Given the description of an element on the screen output the (x, y) to click on. 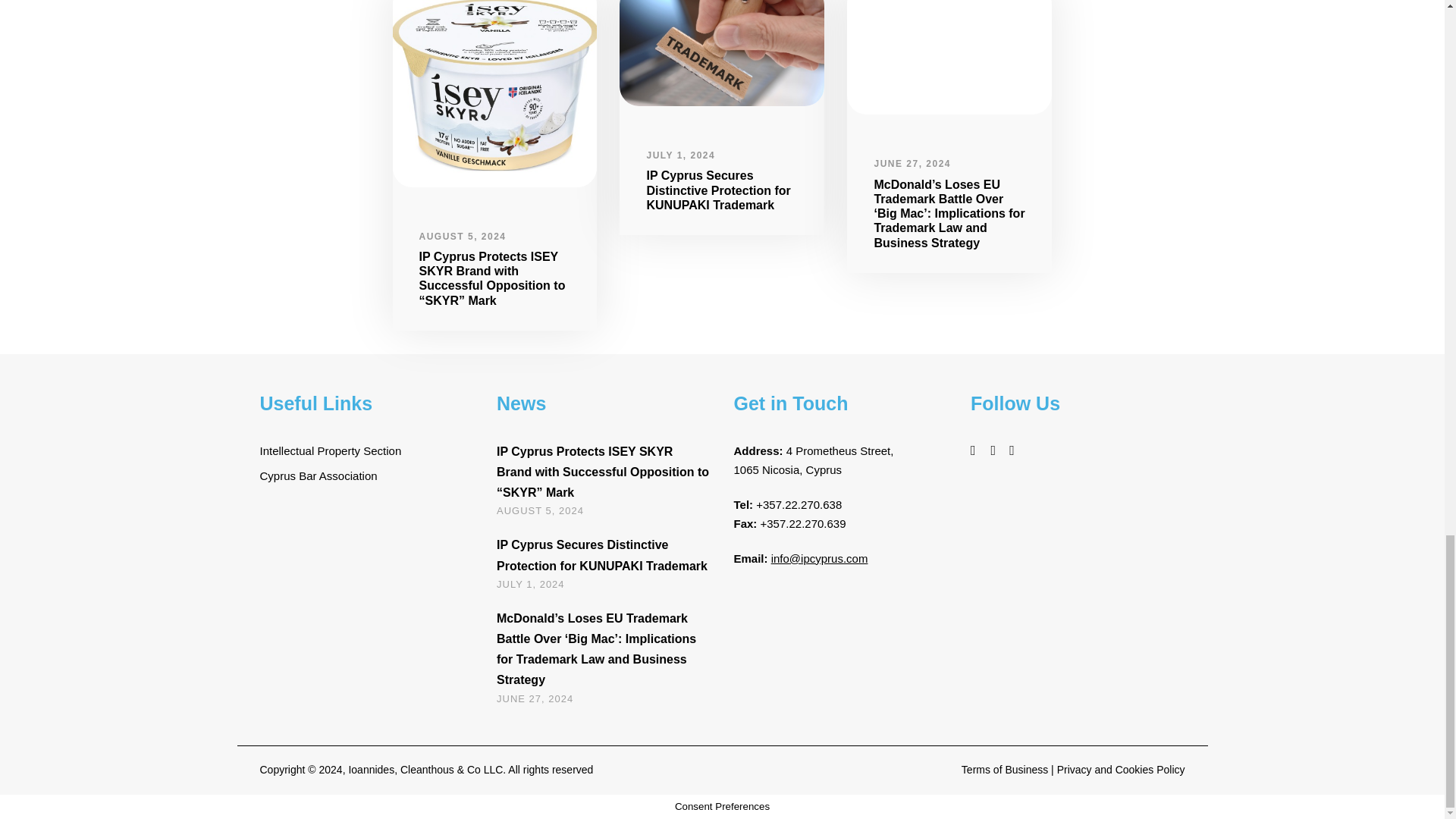
JUNE 27, 2024 (911, 163)
Cyprus Bar Association (318, 475)
AUGUST 5, 2024 (539, 510)
isey skyr (494, 93)
mark mark (722, 53)
AUGUST 5, 2024 (462, 235)
BIG MAC (949, 57)
JULY 1, 2024 (530, 583)
Intellectual Property Section (330, 450)
